Given the description of an element on the screen output the (x, y) to click on. 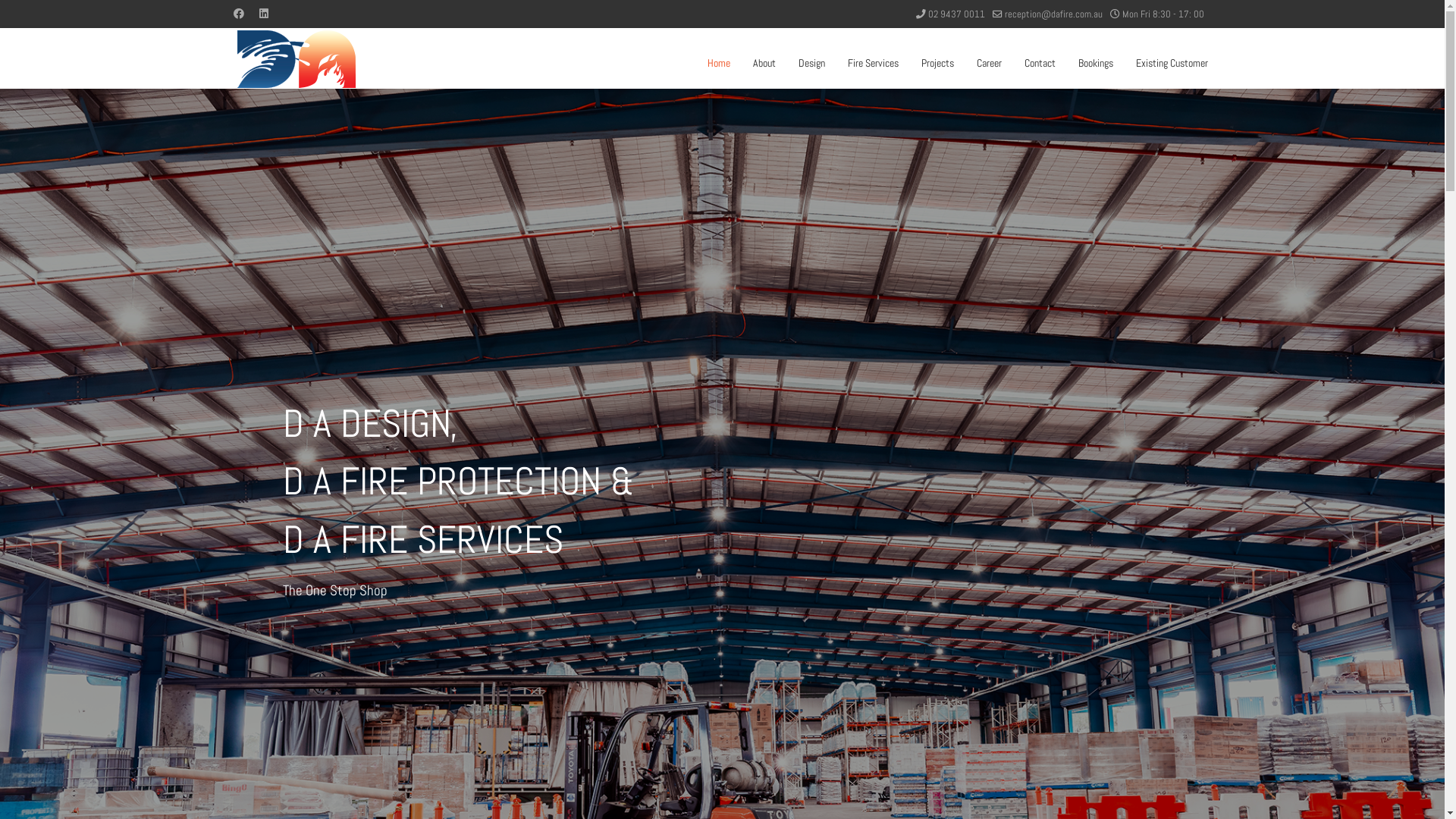
Projects Element type: text (937, 62)
reception@dafire.com.au Element type: text (1052, 14)
02 9437 0011 Element type: text (956, 14)
Fire Services Element type: text (872, 62)
Contact Element type: text (1039, 62)
Bookings Element type: text (1094, 62)
About Element type: text (764, 62)
Existing Customer Element type: text (1165, 62)
Design Element type: text (811, 62)
Career Element type: text (988, 62)
Home Element type: text (718, 62)
